Given the description of an element on the screen output the (x, y) to click on. 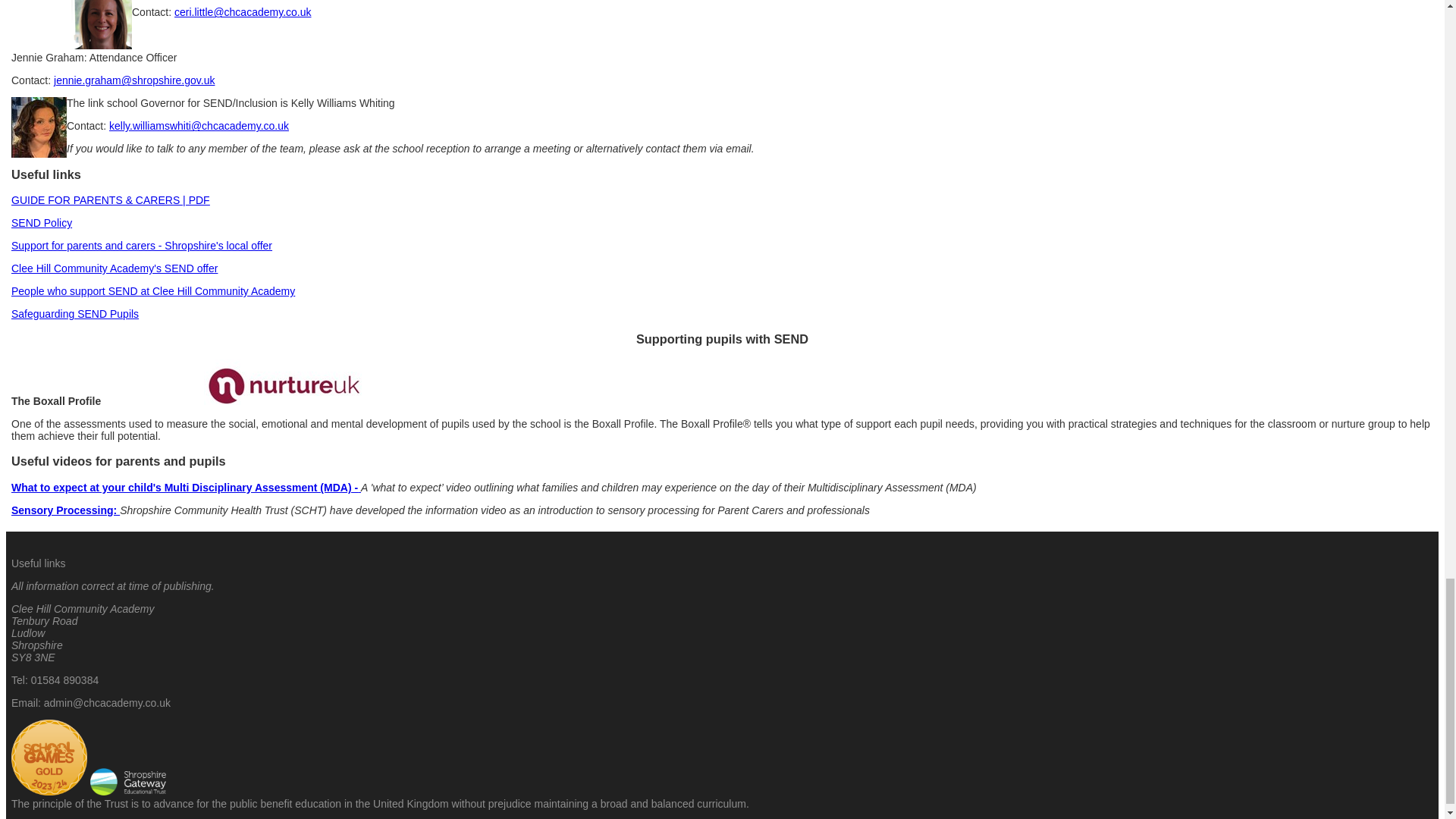
CHCA SEND offer updated.pdf (113, 268)
